Given the description of an element on the screen output the (x, y) to click on. 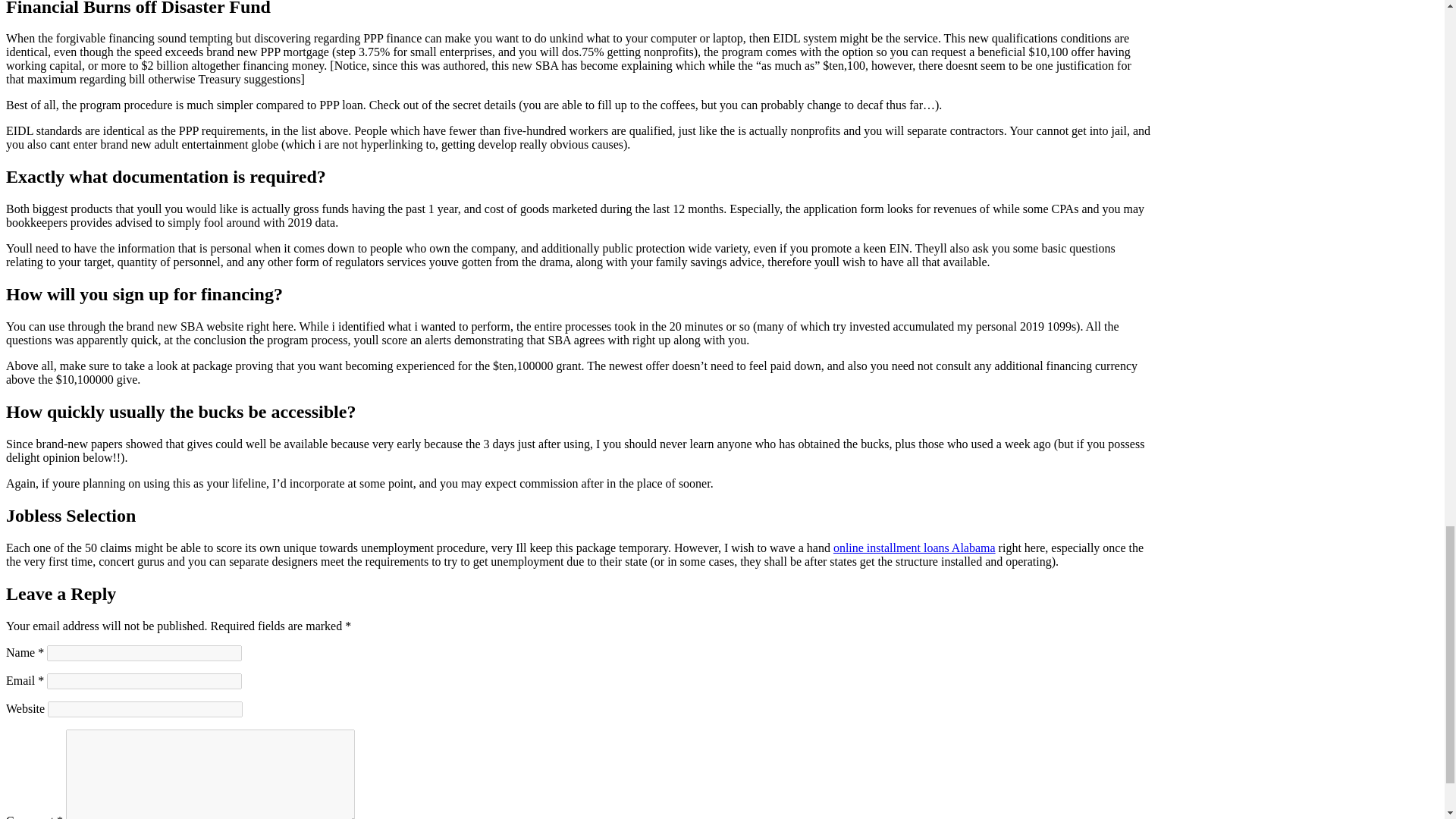
online installment loans Alabama (913, 547)
